Given the description of an element on the screen output the (x, y) to click on. 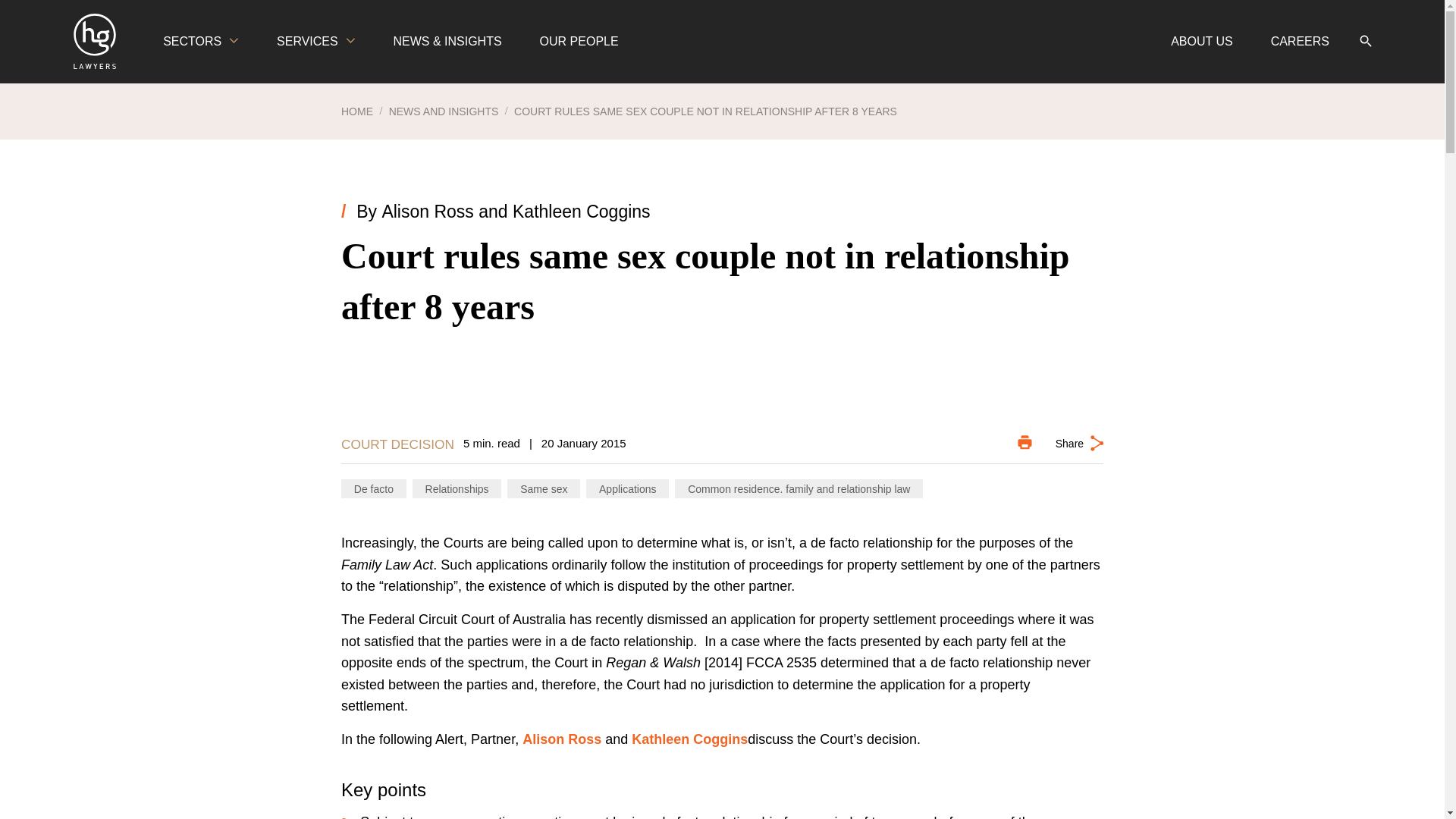
SECTORS (200, 41)
OUR PEOPLE (579, 41)
ABOUT US (1201, 41)
CAREERS (1299, 41)
SERVICES (315, 41)
